Given the description of an element on the screen output the (x, y) to click on. 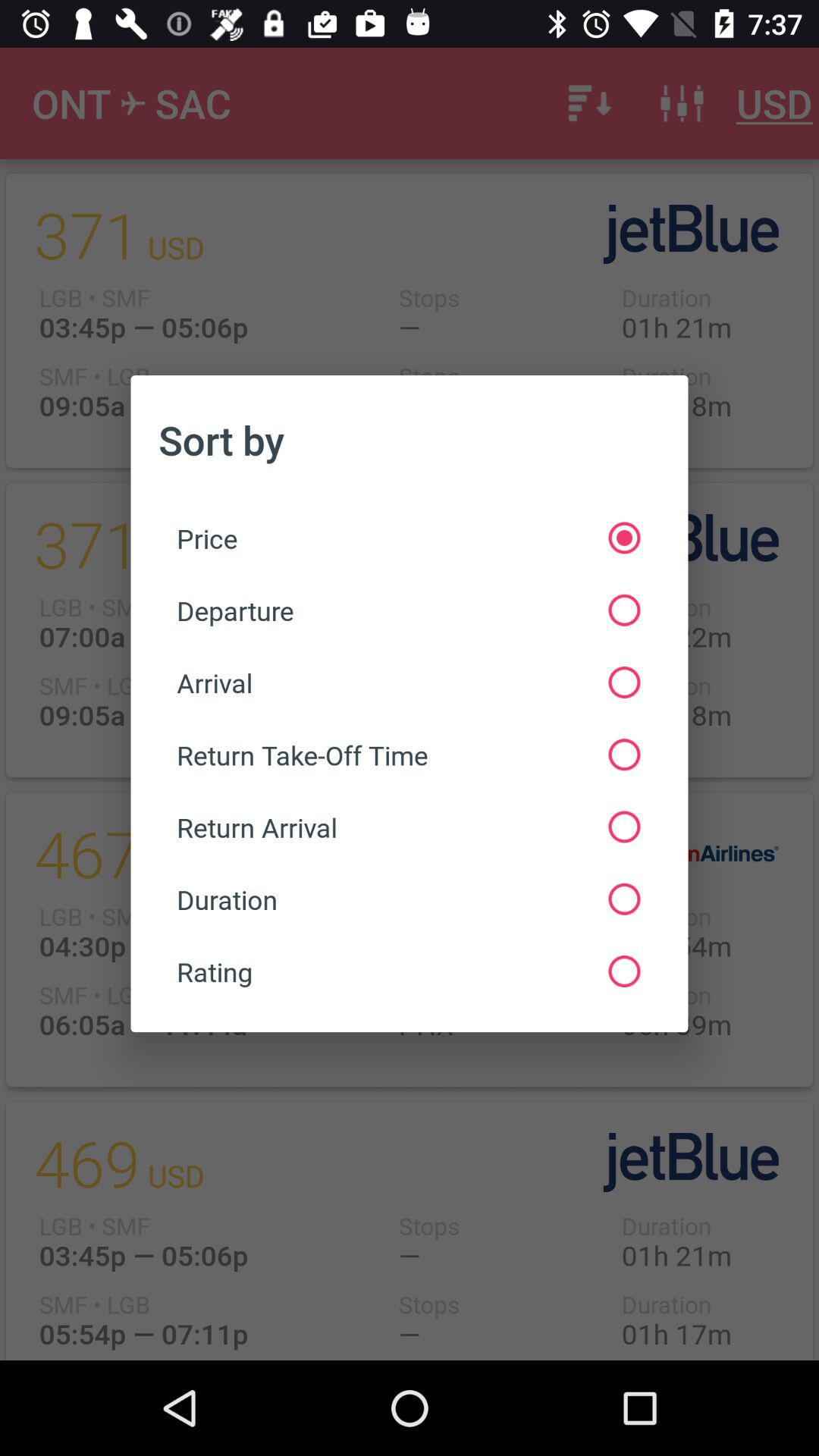
flip to departure (408, 610)
